Given the description of an element on the screen output the (x, y) to click on. 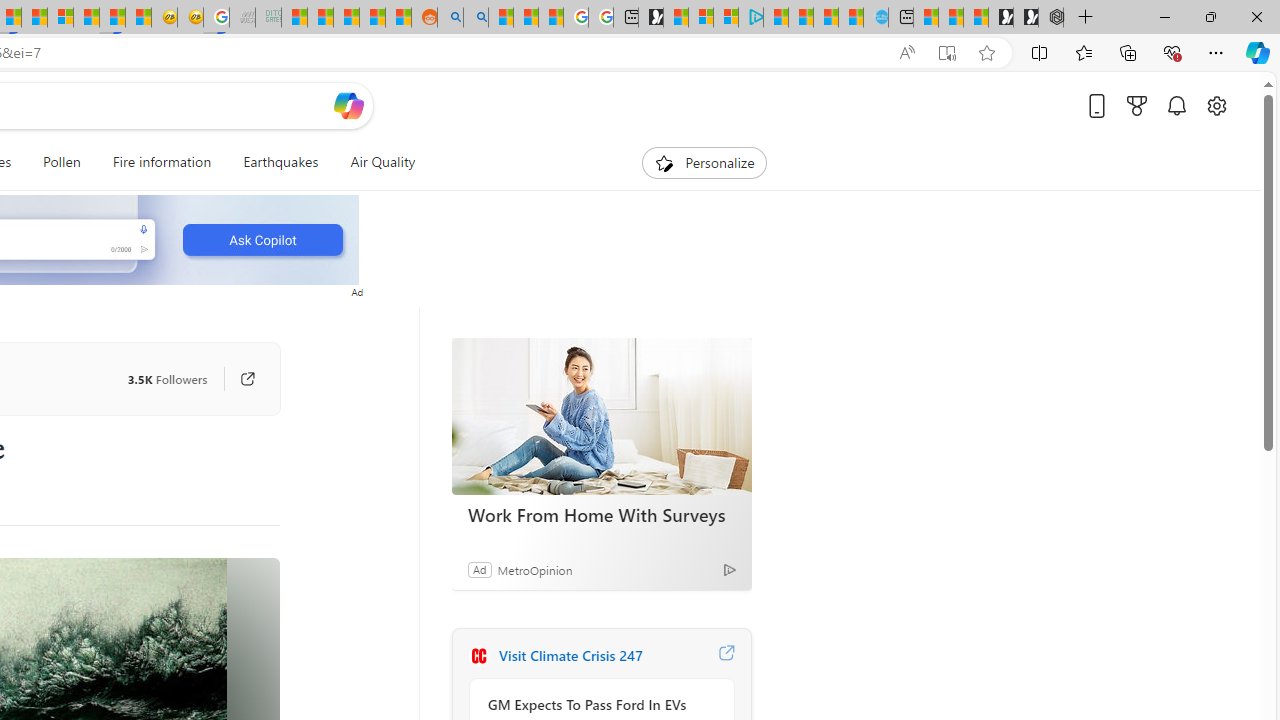
Visit Climate Crisis 247 website (726, 655)
GM Expects To Pass Ford In EVs (596, 704)
Student Loan Update: Forgiveness Program Ends This Month (372, 17)
Air Quality (375, 162)
